Given the description of an element on the screen output the (x, y) to click on. 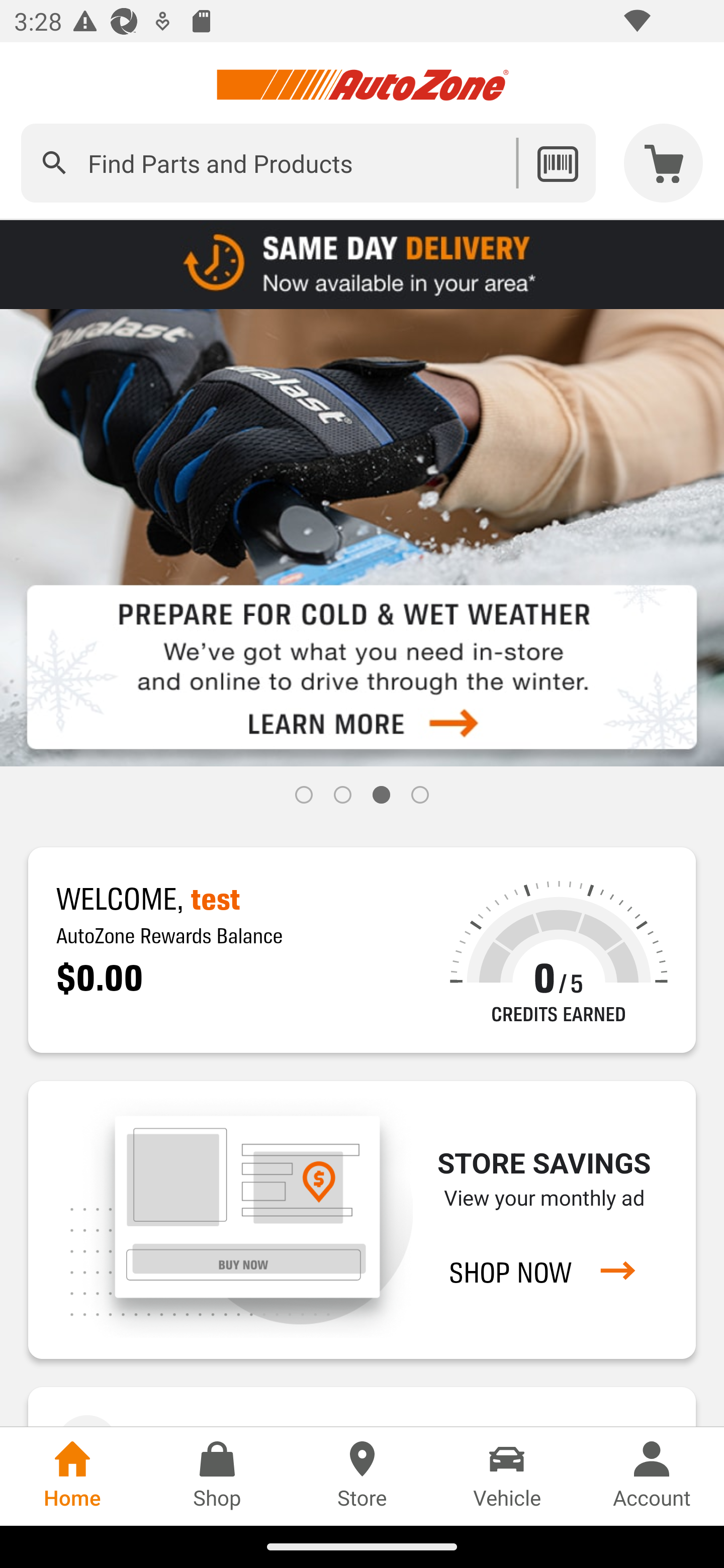
 scan-product-to-search  (557, 162)
 (54, 163)
Cart, no items  (663, 162)
Same Day Delivery - now available in your area* (362, 262)
Home (72, 1475)
Shop (216, 1475)
Store (361, 1475)
Vehicle (506, 1475)
Account (651, 1475)
